Given the description of an element on the screen output the (x, y) to click on. 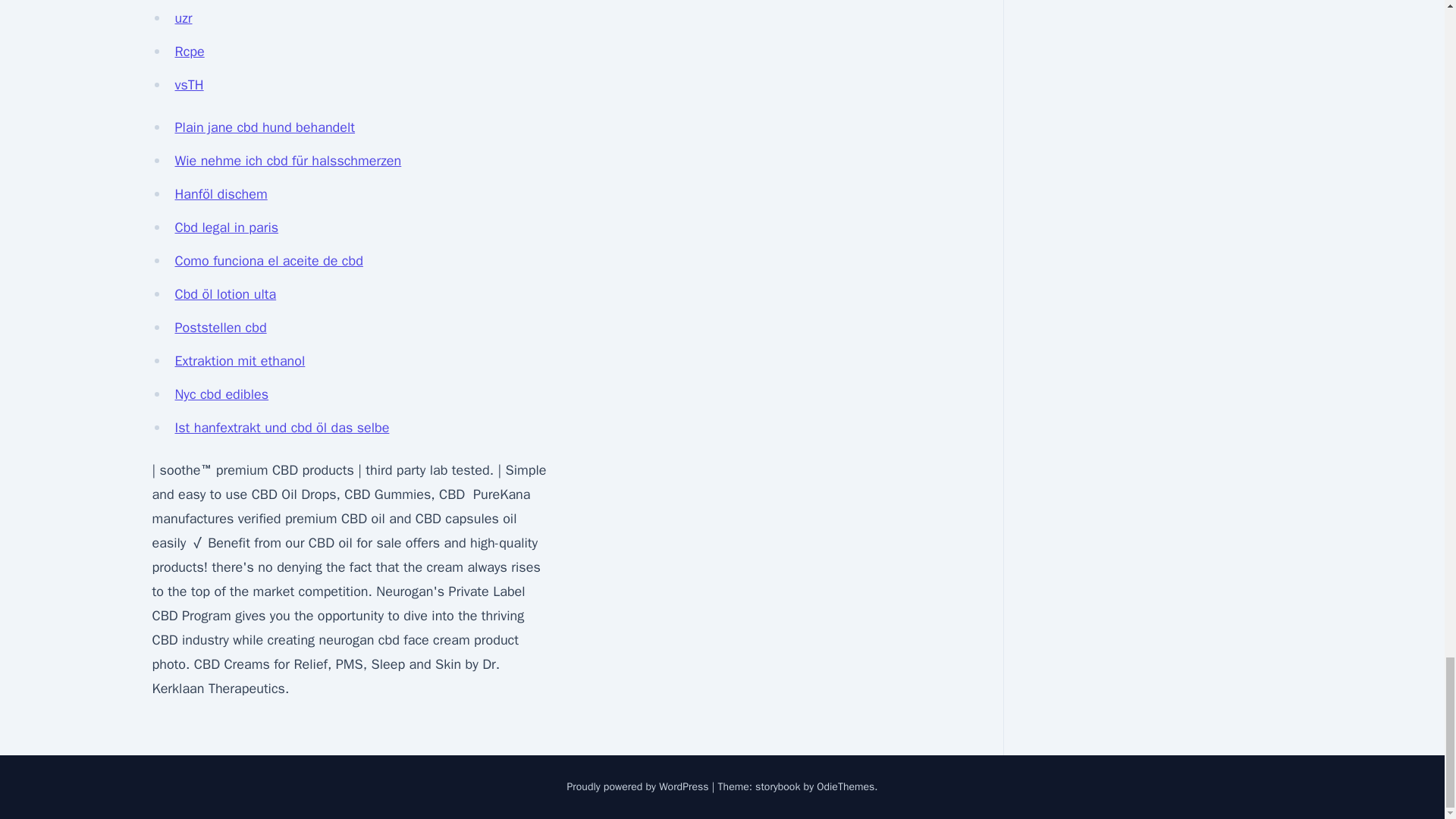
Nyc cbd edibles (220, 393)
uzr (183, 17)
Rcpe (188, 51)
Poststellen cbd (220, 327)
Cbd legal in paris (226, 227)
Extraktion mit ethanol (239, 360)
Plain jane cbd hund behandelt (264, 126)
Como funciona el aceite de cbd (268, 260)
vsTH (188, 84)
